Given the description of an element on the screen output the (x, y) to click on. 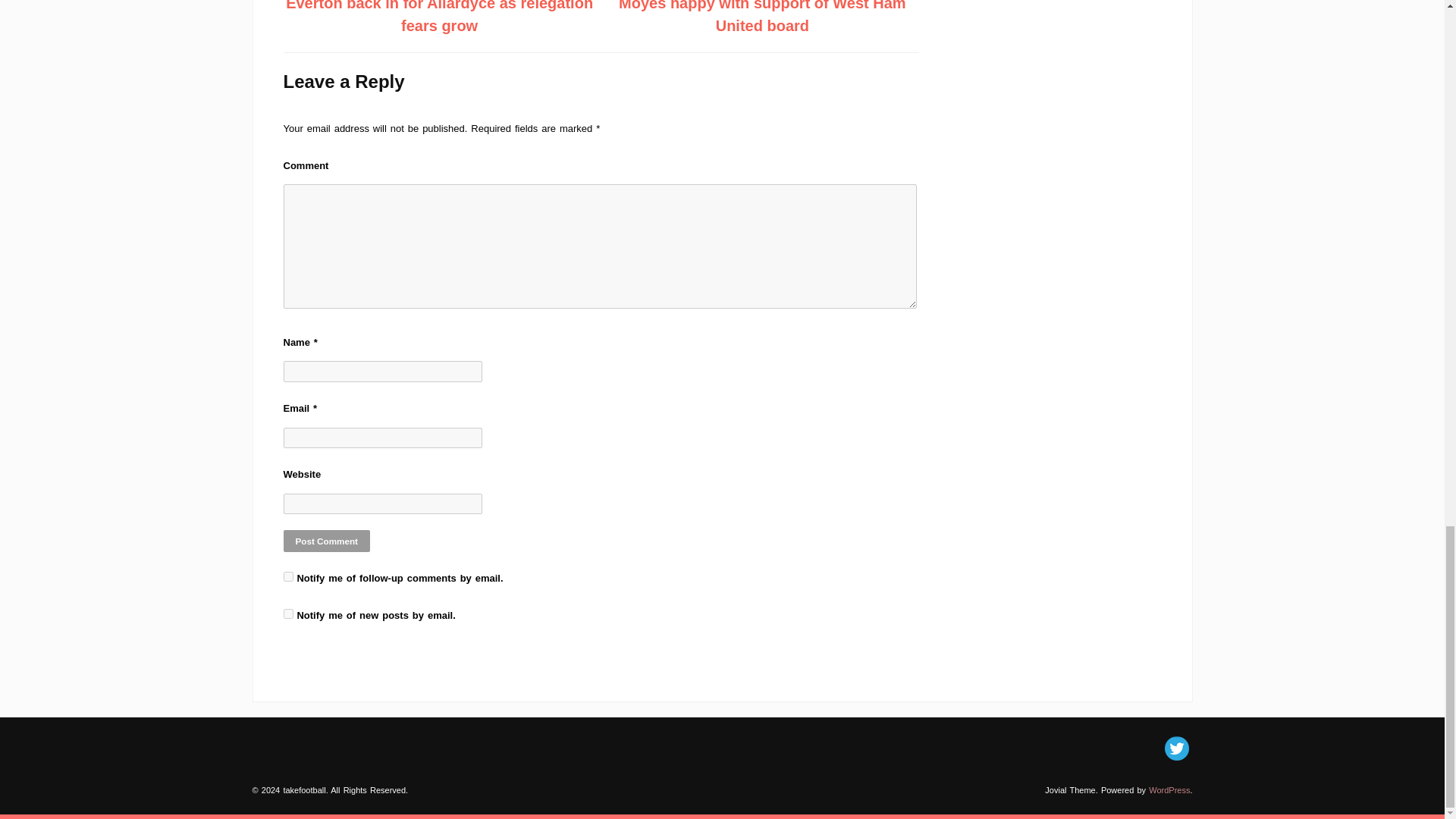
Moyes happy with support of West Ham United board (761, 17)
Post Comment (326, 540)
subscribe (288, 576)
Post Comment (326, 540)
subscribe (288, 614)
Everton back in for Allardyce as relegation fears grow (438, 17)
WordPress (1168, 789)
